Given the description of an element on the screen output the (x, y) to click on. 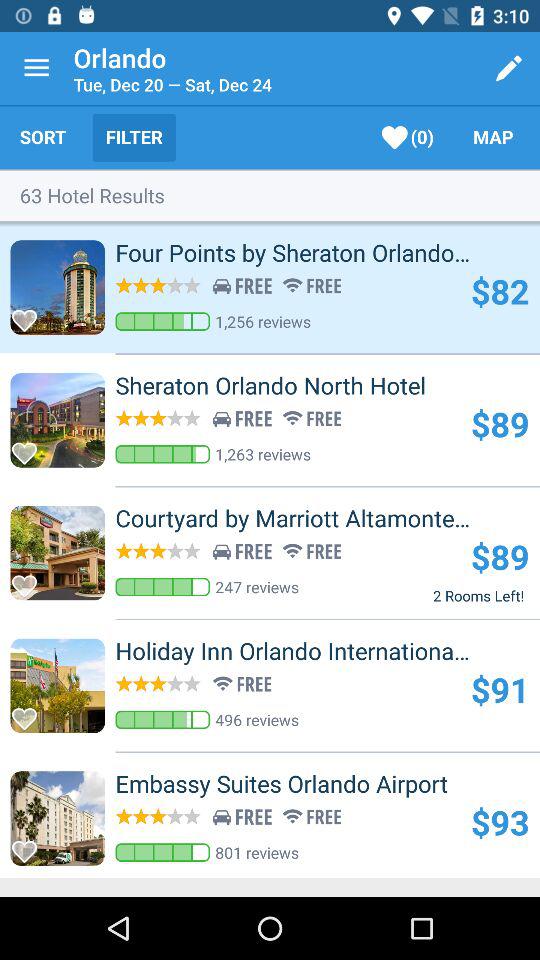
scroll until four points by icon (327, 252)
